Given the description of an element on the screen output the (x, y) to click on. 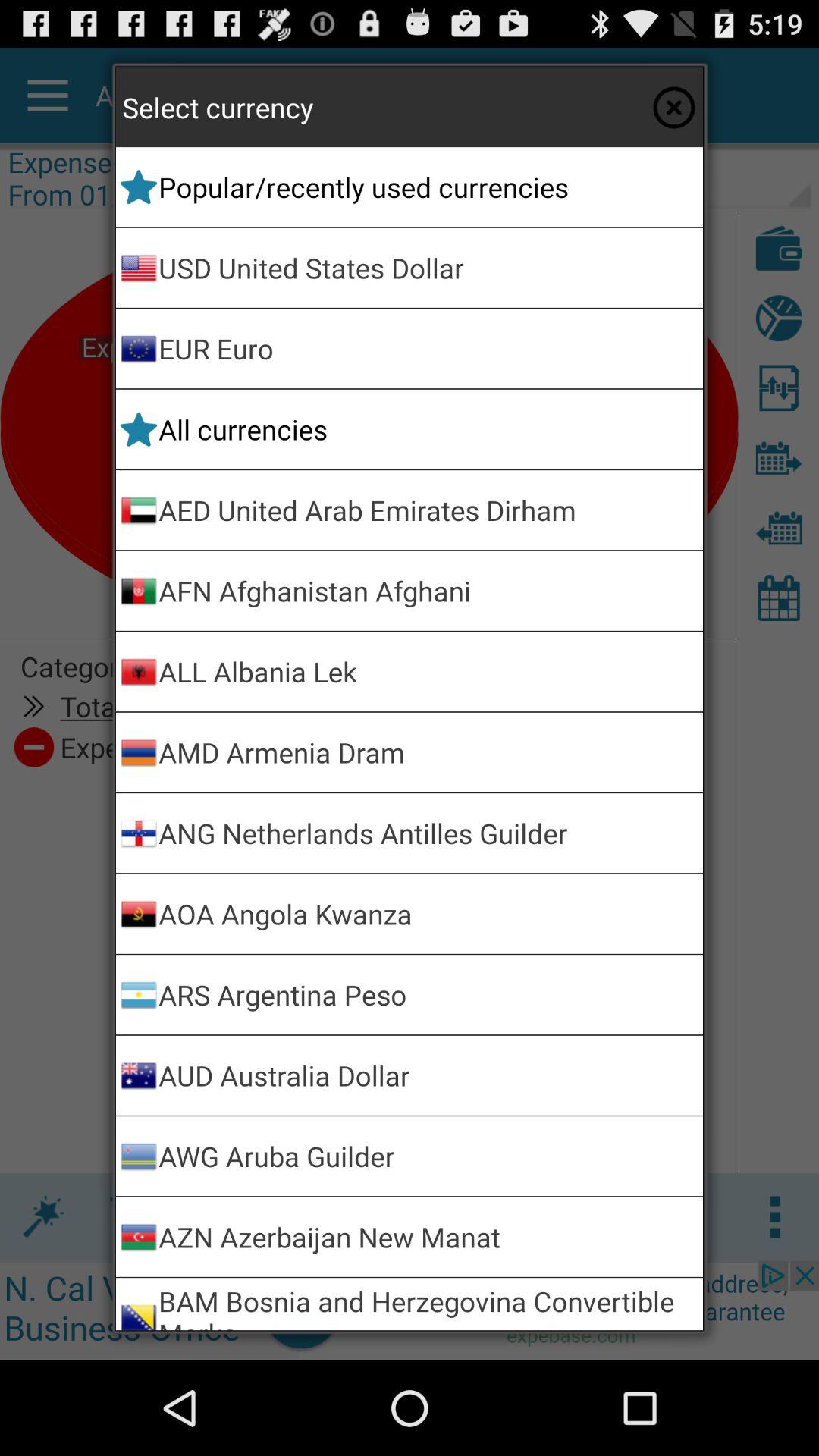
open the app above the ang netherlands antilles app (427, 752)
